Given the description of an element on the screen output the (x, y) to click on. 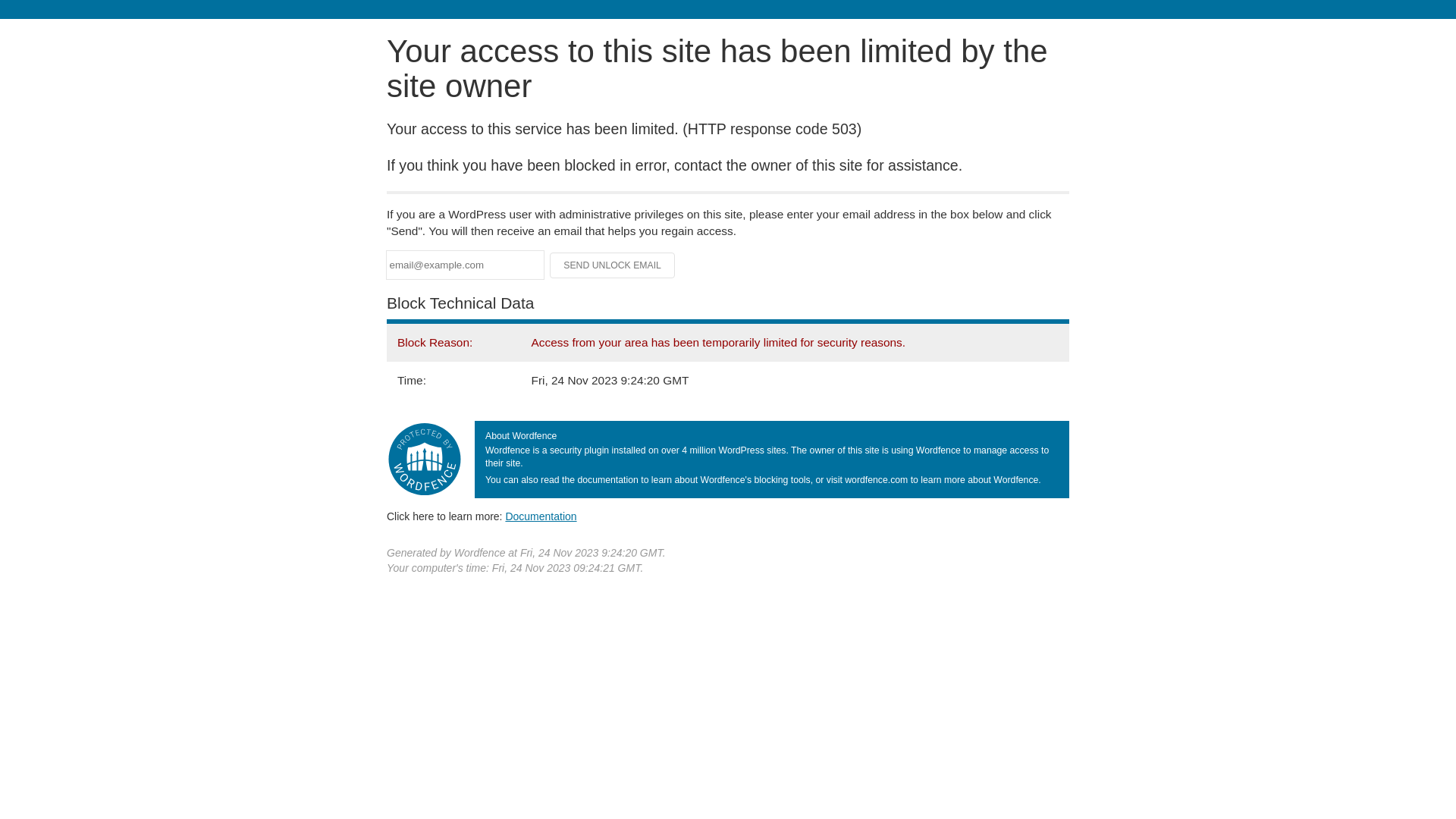
Send Unlock Email Element type: text (612, 265)
Documentation Element type: text (540, 516)
